Given the description of an element on the screen output the (x, y) to click on. 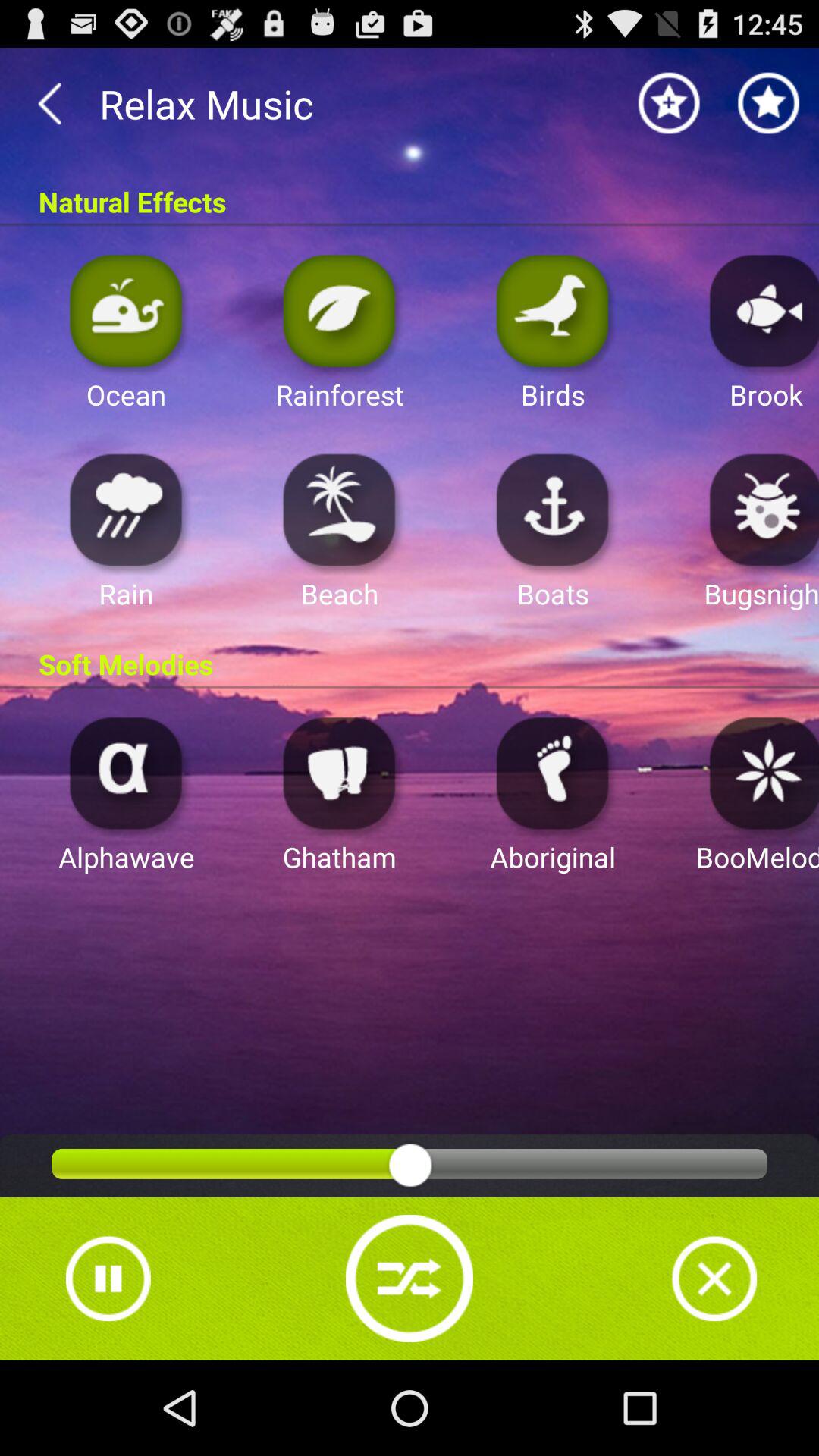
select the brook button (759, 309)
